Given the description of an element on the screen output the (x, y) to click on. 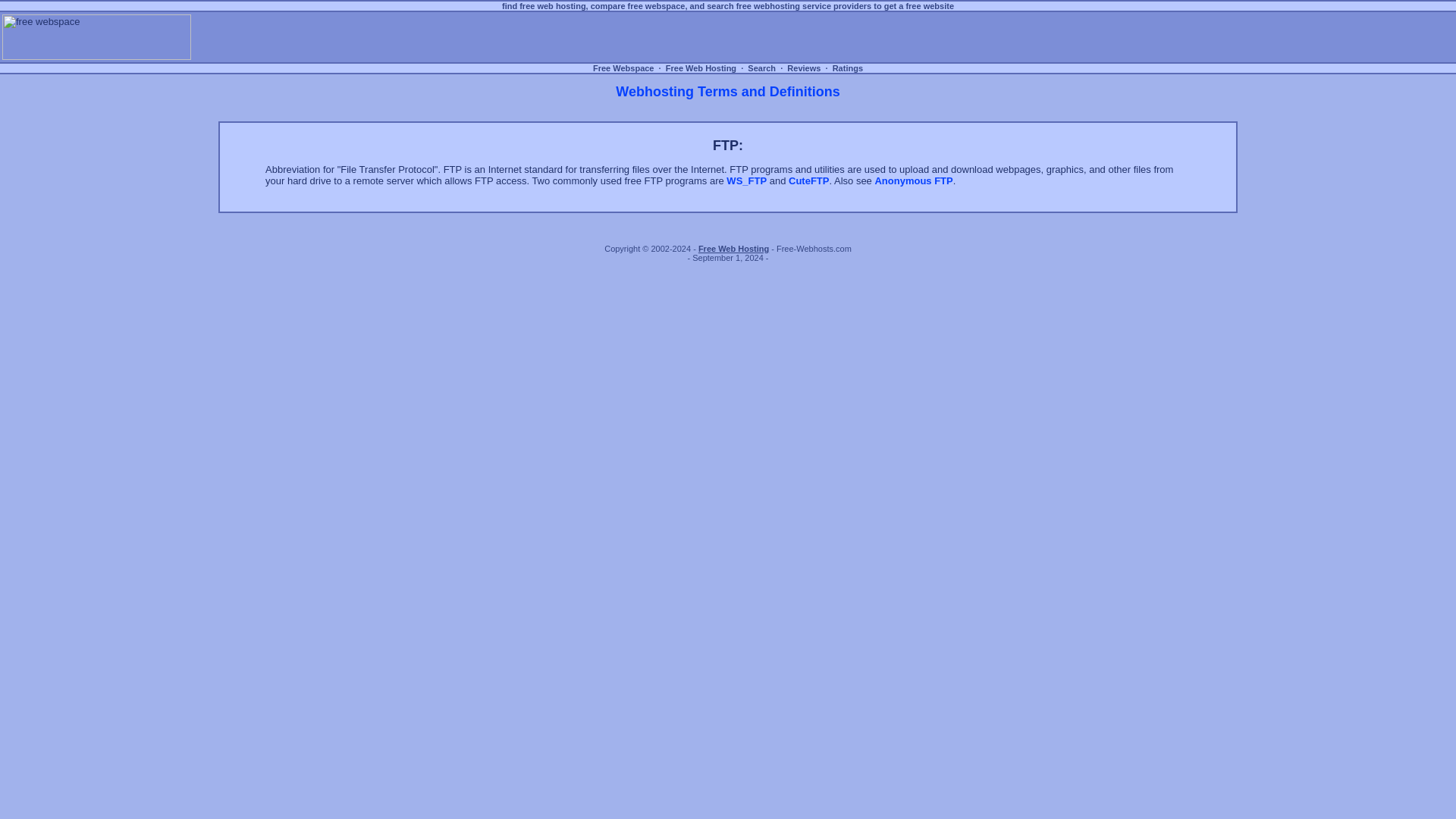
 Free Webspace  (623, 67)
CuteFTP (808, 180)
 Search  (761, 67)
 Free Web Hosting  (700, 67)
Anonymous FTP (913, 180)
 Ratings  (846, 67)
 Reviews  (803, 67)
Webhosting Terms and Definitions (727, 92)
Free Web Hosting (733, 248)
